Given the description of an element on the screen output the (x, y) to click on. 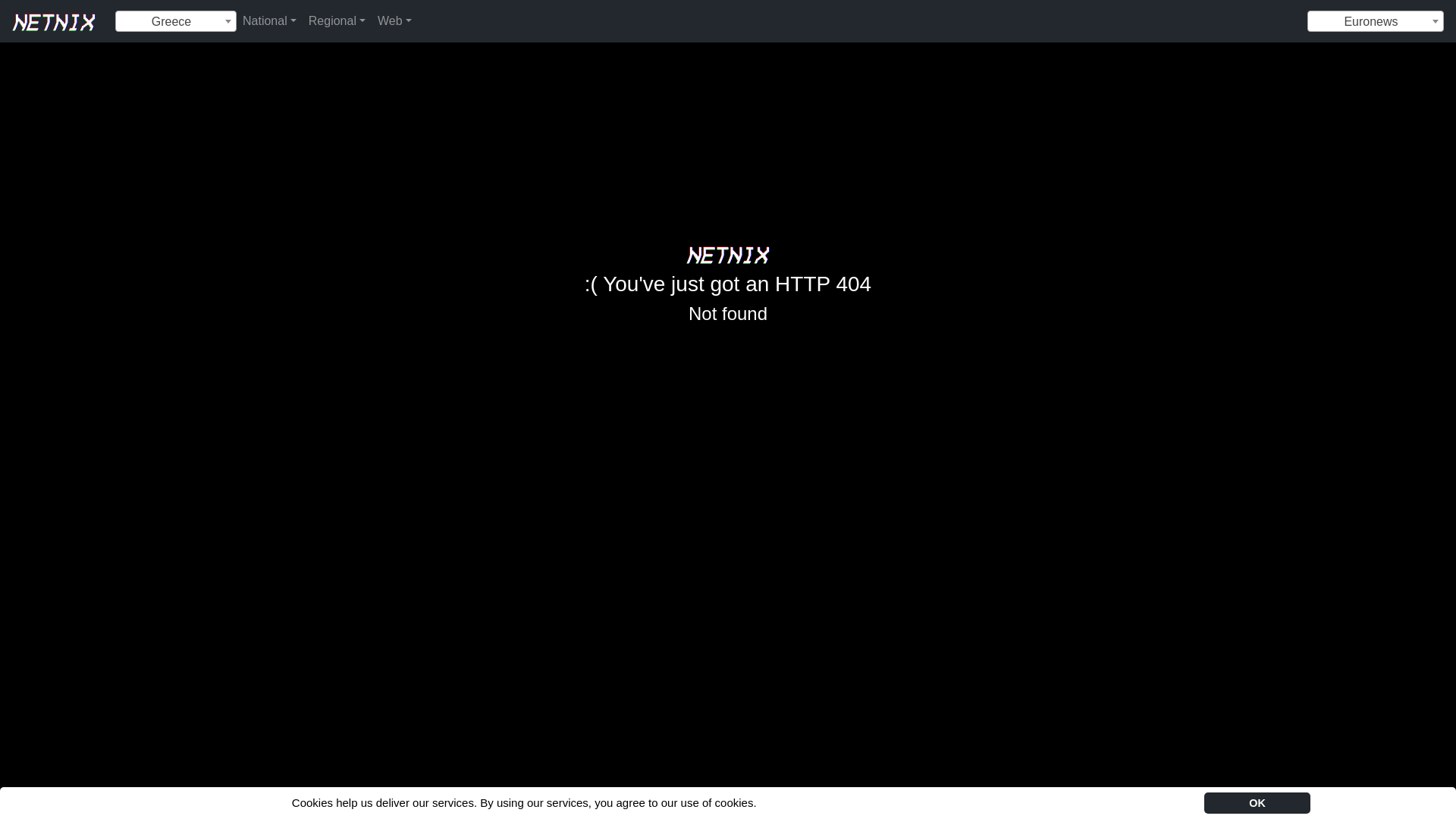
Web (394, 20)
National (268, 20)
Greece (175, 21)
Regional (336, 20)
Euronews (1374, 21)
